Given the description of an element on the screen output the (x, y) to click on. 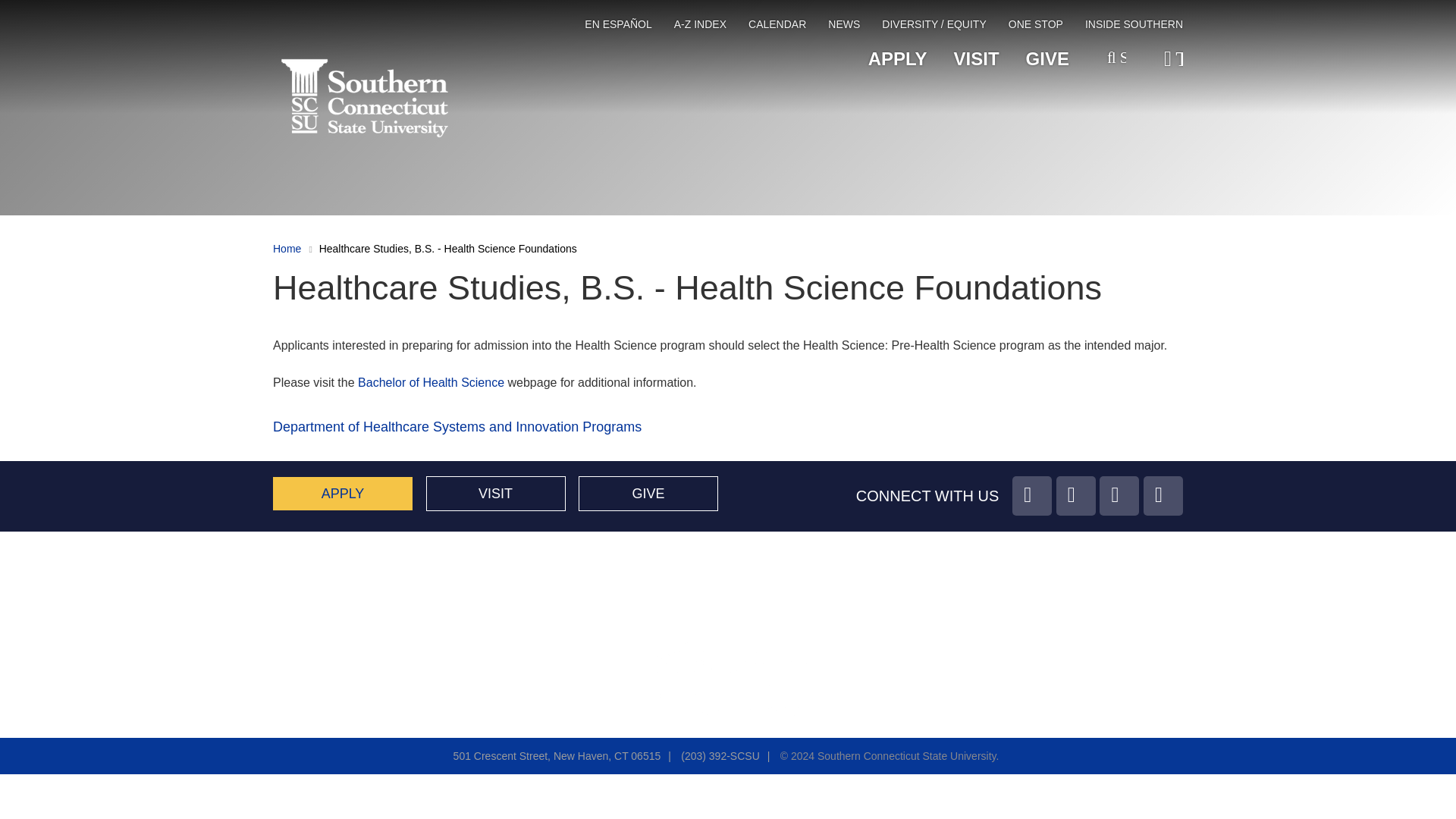
INSTAGRAM (1031, 495)
INSIDE SOUTHERN (1133, 27)
GIVE (1047, 59)
APPLY (897, 59)
APPLY (342, 493)
CALENDAR (777, 27)
GIVE (647, 493)
VISIT (496, 493)
VISIT (975, 59)
